Given the description of an element on the screen output the (x, y) to click on. 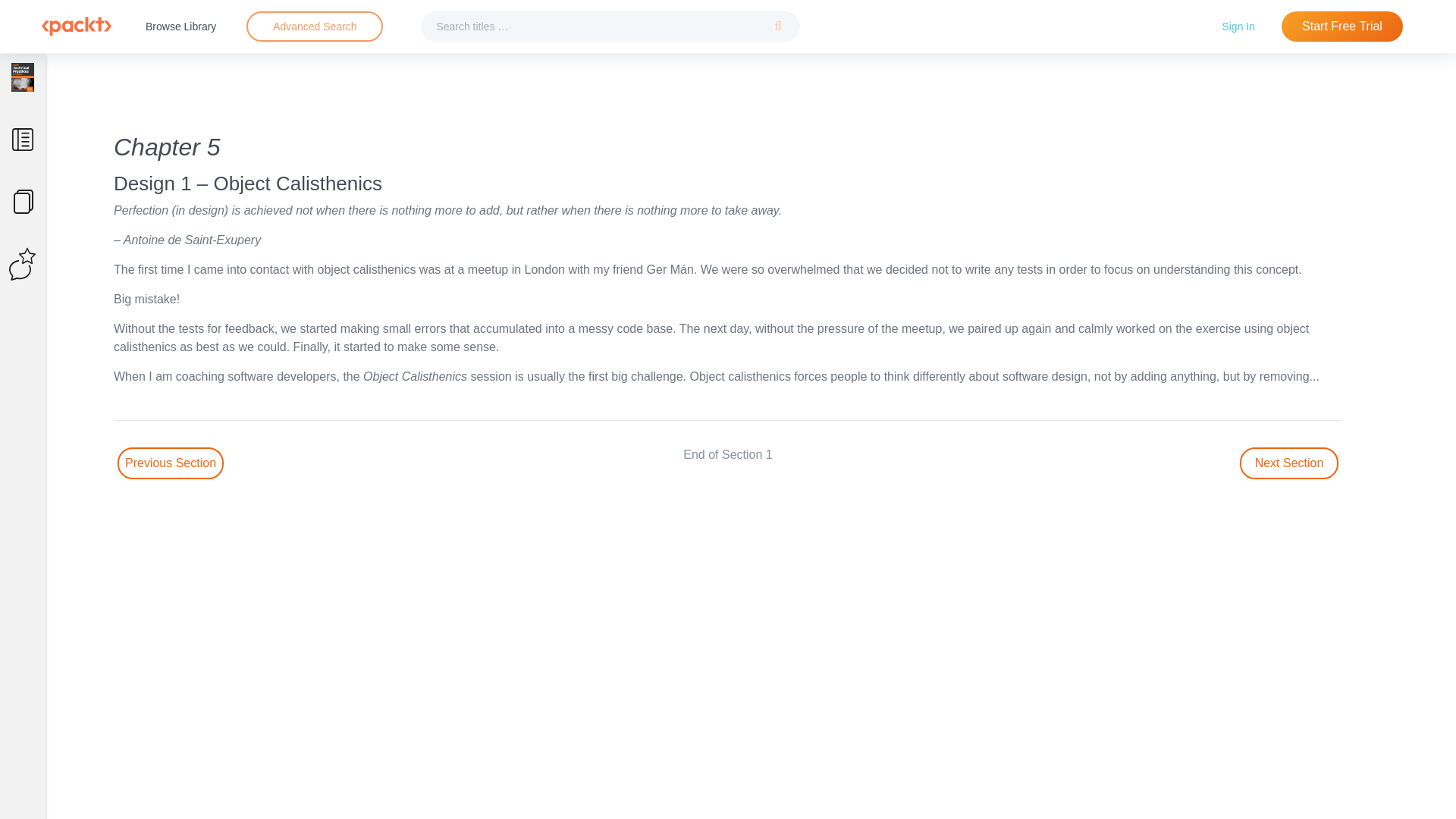
Advanced Search (315, 26)
Advanced search (314, 26)
Go to next section (1289, 463)
Go to Previous section (170, 463)
Start Free Trial (1342, 26)
Sign In (1238, 26)
Advanced Search (314, 26)
Browse Library (180, 26)
